Given the description of an element on the screen output the (x, y) to click on. 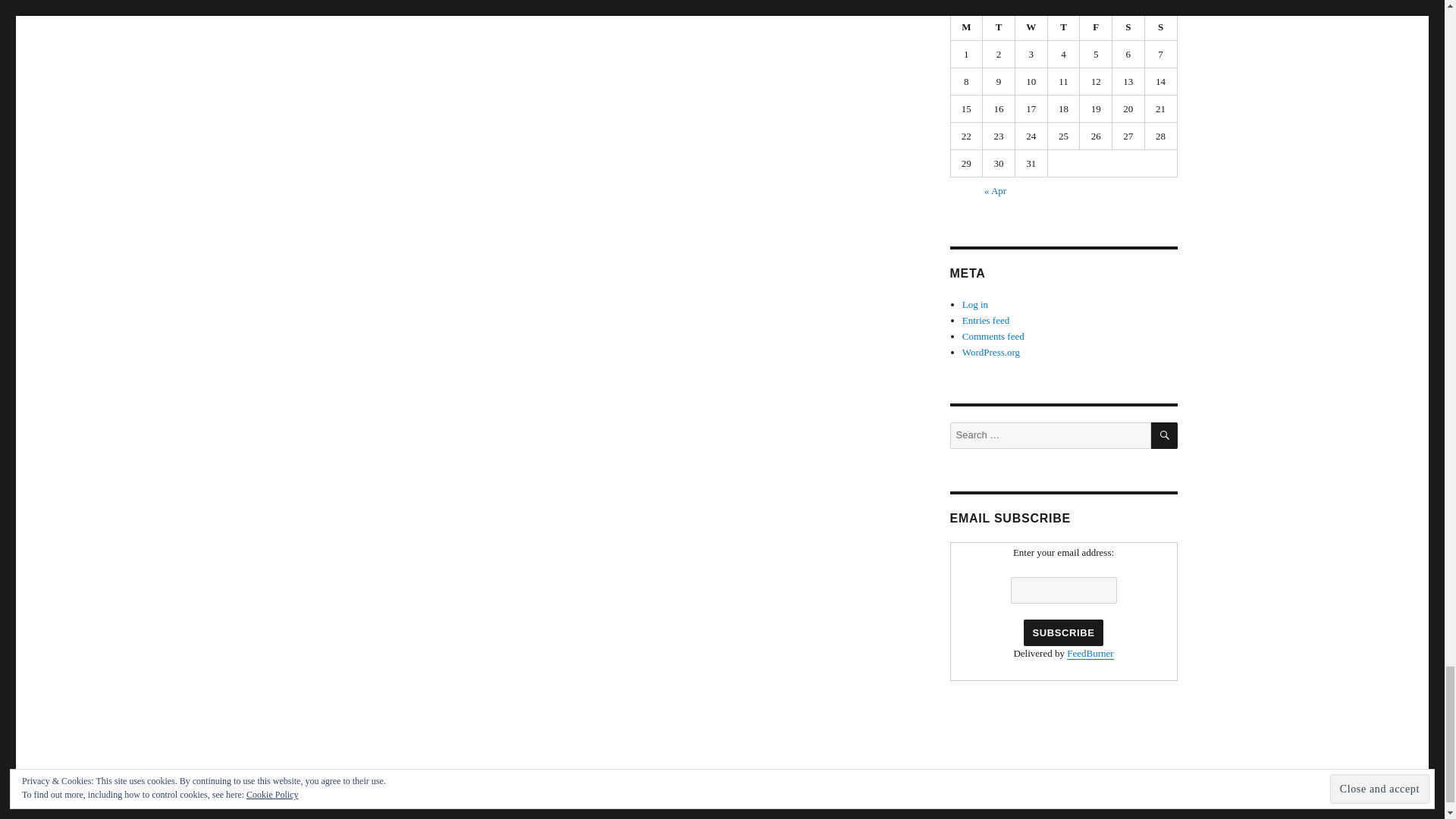
Subscribe (1062, 632)
